Given the description of an element on the screen output the (x, y) to click on. 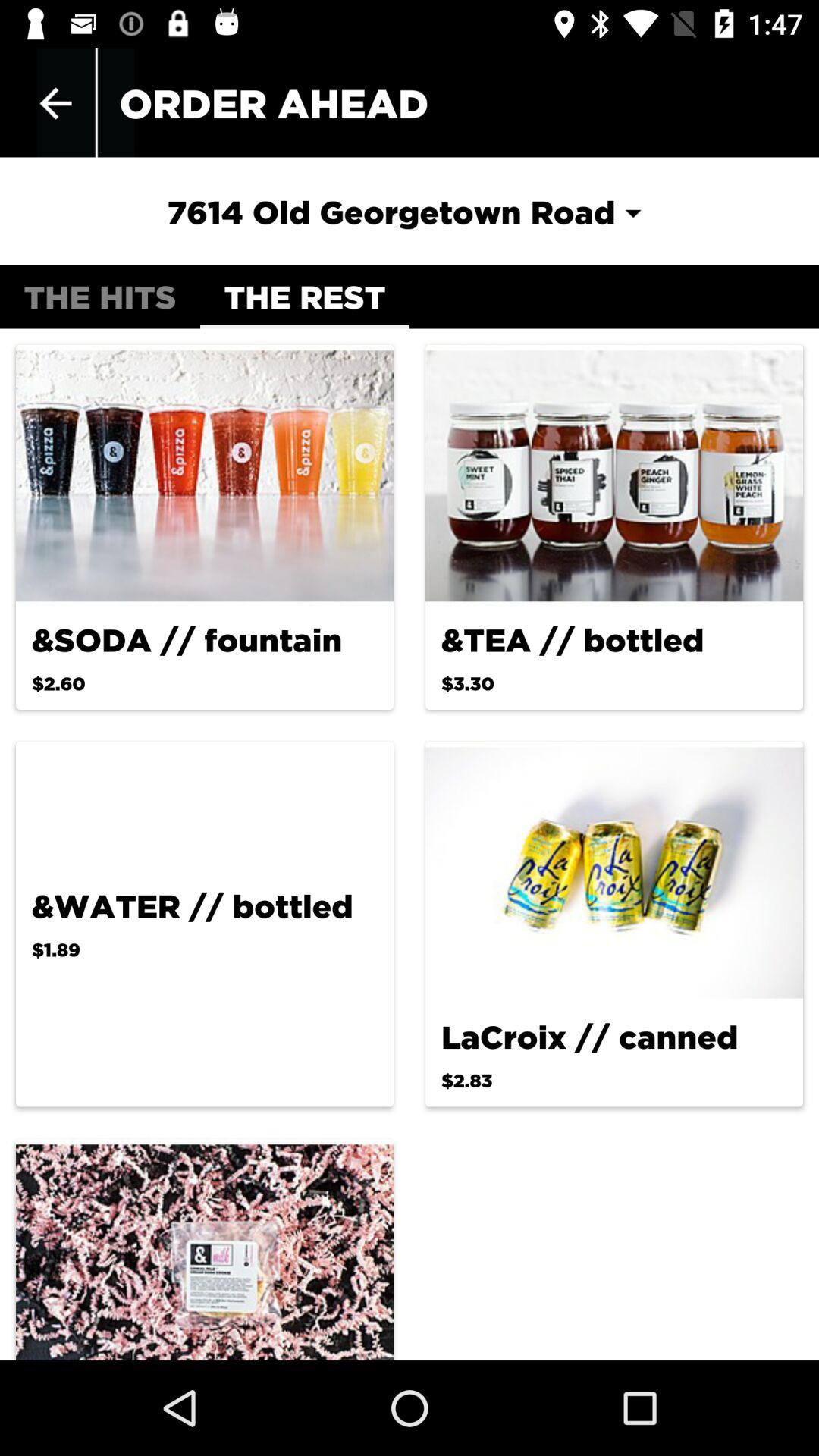
tap item next to order ahead app (55, 103)
